Given the description of an element on the screen output the (x, y) to click on. 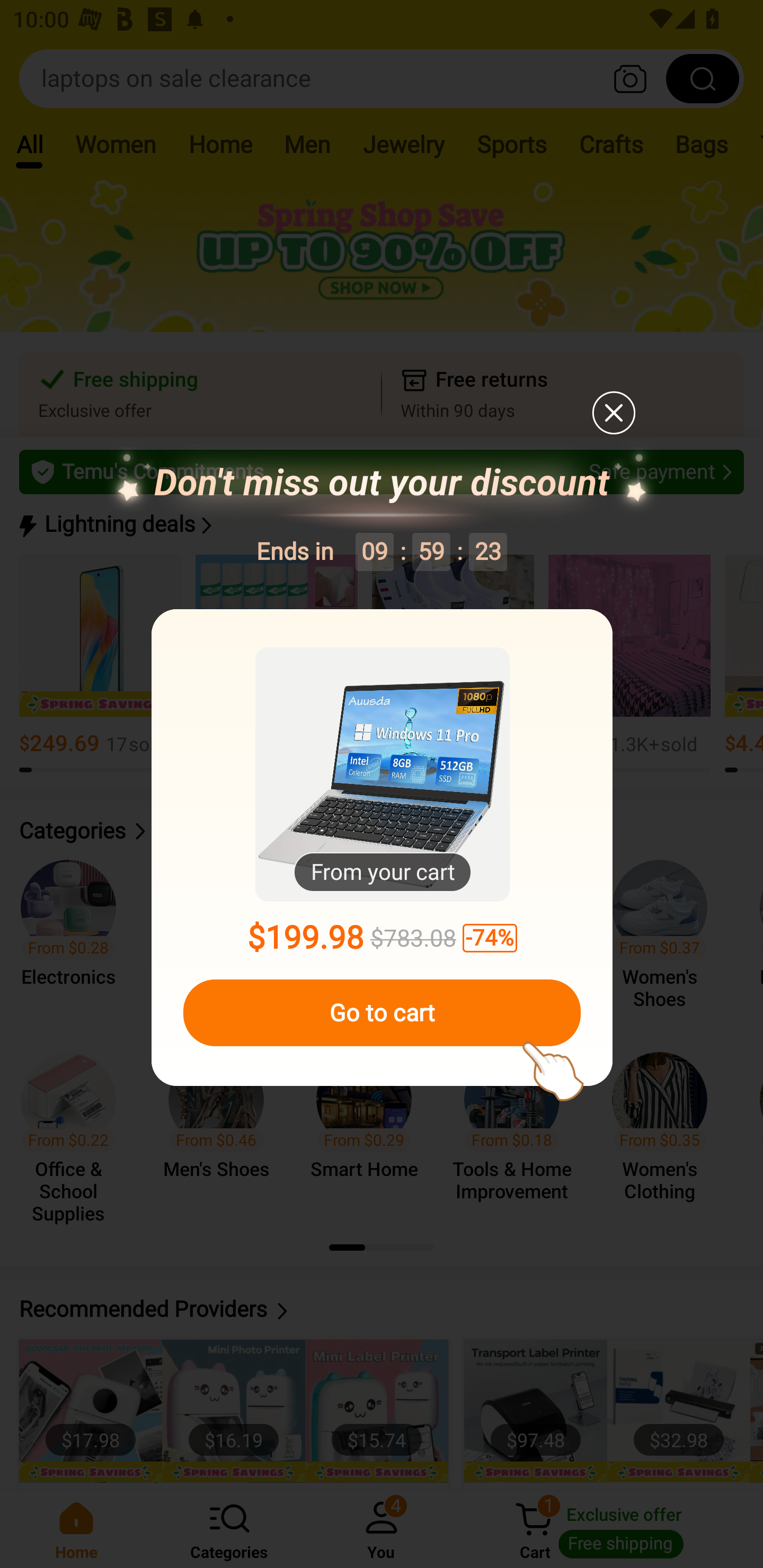
 (612, 412)
From your cart $199.98 $783.08 -74% Go to cart (381, 847)
Go to cart (381, 1012)
